Given the description of an element on the screen output the (x, y) to click on. 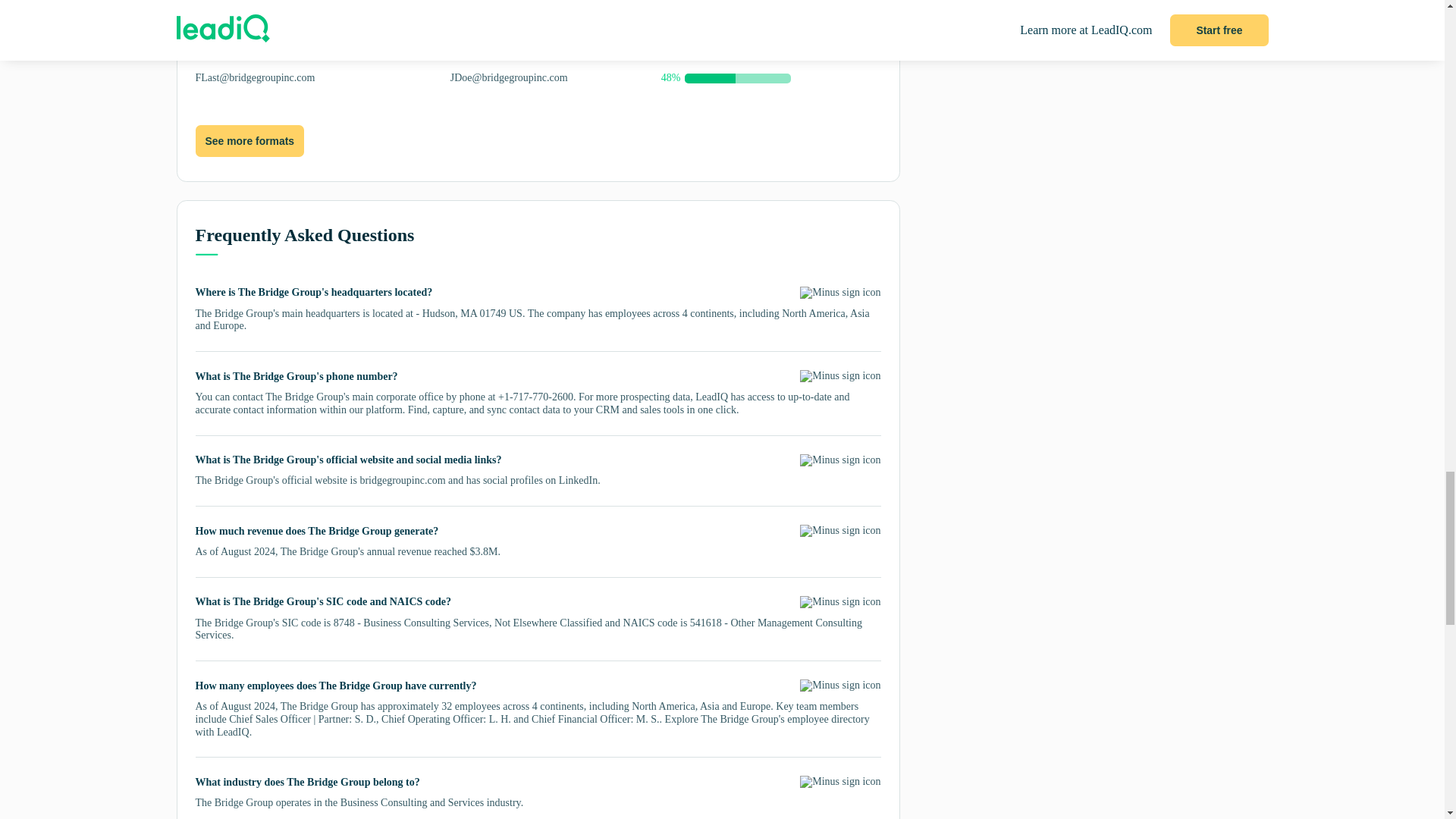
The Bridge Group's employee directory (784, 718)
See more formats (249, 141)
bridgegroupinc.com (402, 480)
LinkedIn (577, 480)
See more formats (249, 141)
